Given the description of an element on the screen output the (x, y) to click on. 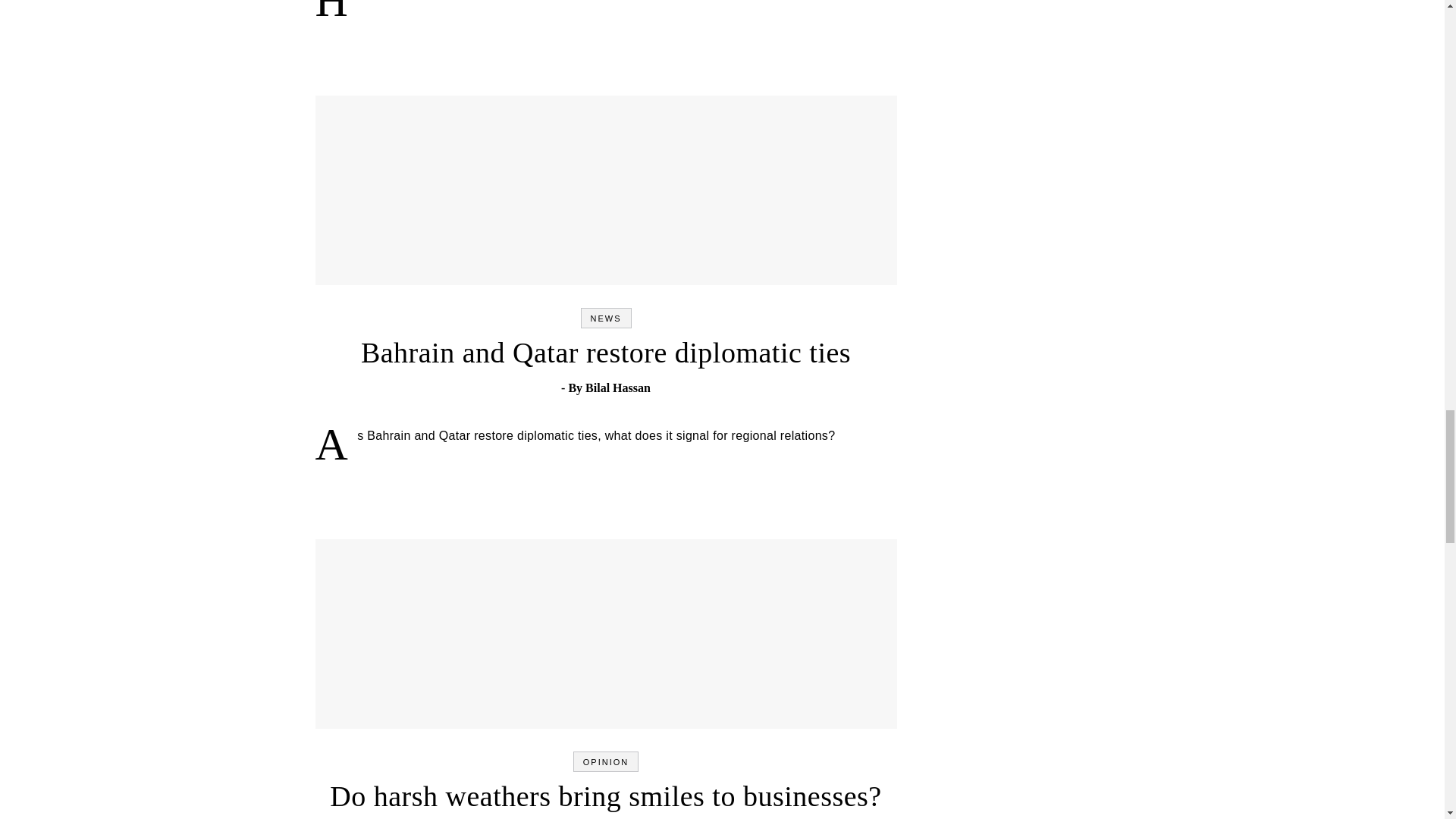
Bahrain and Qatar restore diplomatic ties 6 (449, 187)
Do harsh weathers bring smiles to businesses? 7 (444, 630)
NEWS (605, 317)
OPINION (605, 761)
Bilal Hassan (617, 387)
Bahrain and Qatar restore diplomatic ties (605, 352)
Posts by Bilal Hassan (617, 387)
